Given the description of an element on the screen output the (x, y) to click on. 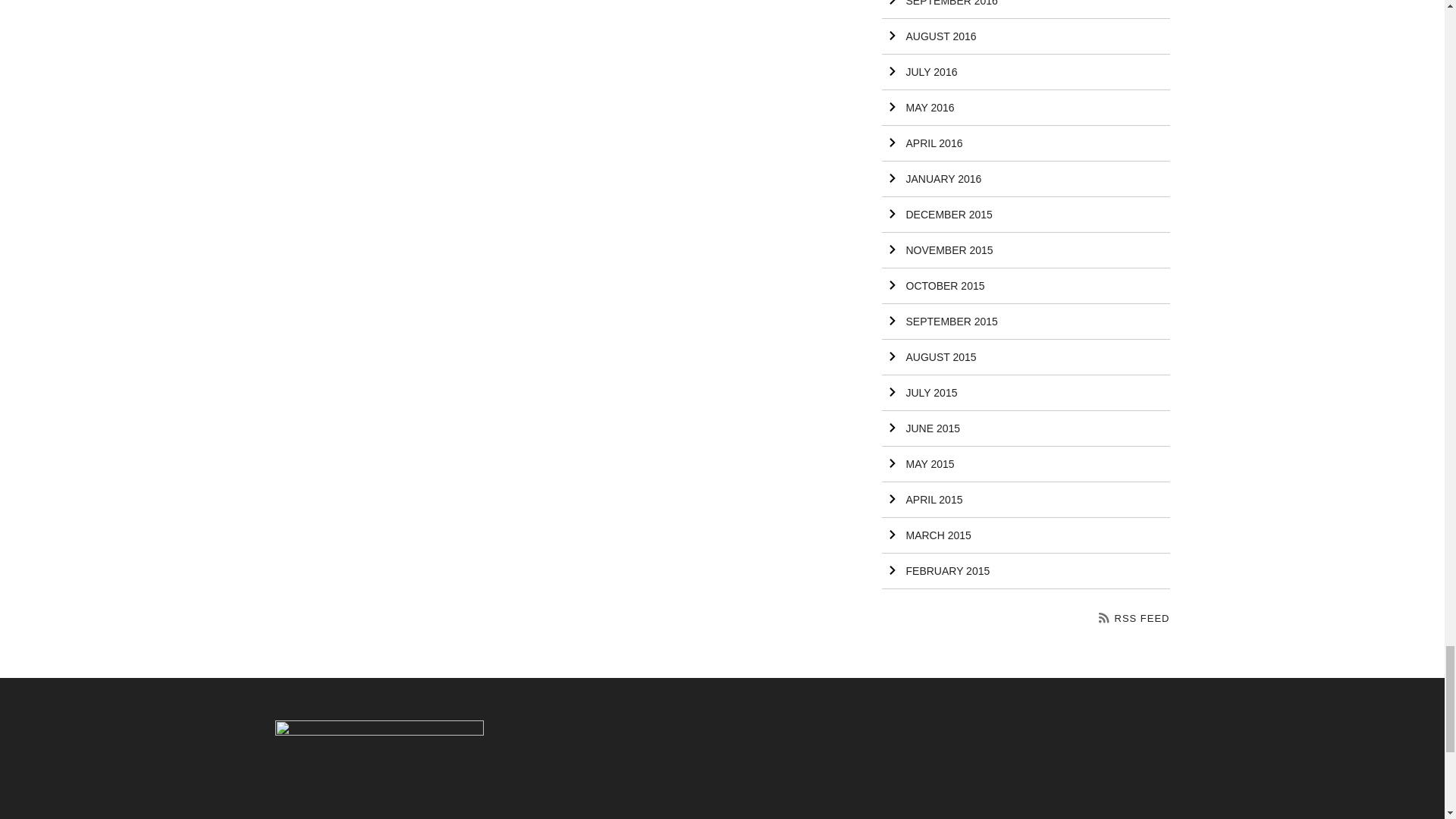
RSS FEED (1134, 618)
